Given the description of an element on the screen output the (x, y) to click on. 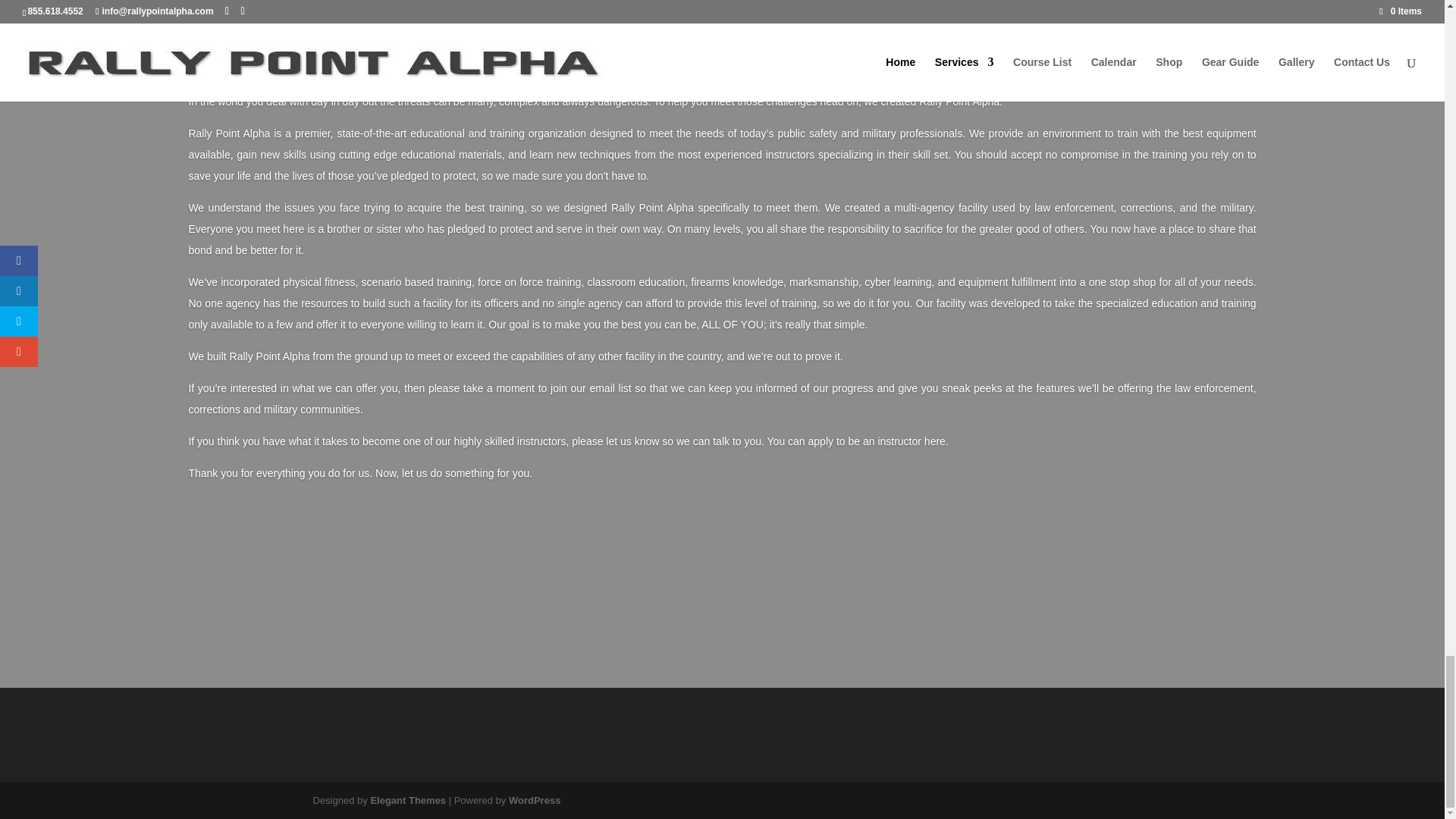
Premium WordPress Themes (407, 799)
